Given the description of an element on the screen output the (x, y) to click on. 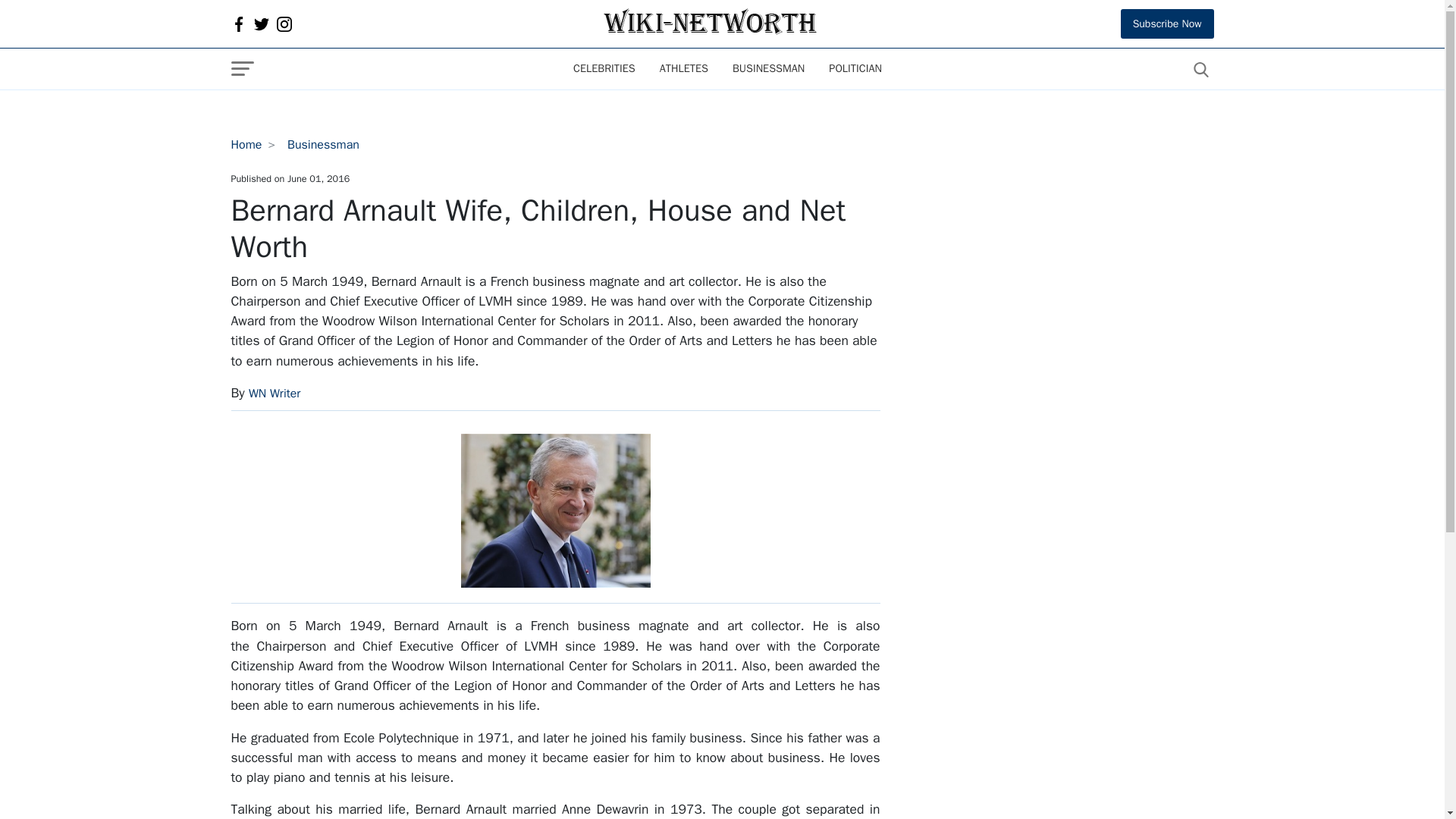
Subscribe Now (1167, 23)
POLITICIAN (854, 68)
Follow Us On instagram (283, 23)
Politician (854, 68)
WN Writer (273, 393)
ATHLETES (683, 68)
Businessman (322, 144)
Wiki Networth (710, 23)
Follow Us On twitter (260, 23)
Athletes (683, 68)
Home (246, 144)
Businessman (768, 68)
Subscribe to our Newsletter (1167, 23)
Connect with us on Facebook (238, 23)
CELEBRITIES (603, 68)
